Given the description of an element on the screen output the (x, y) to click on. 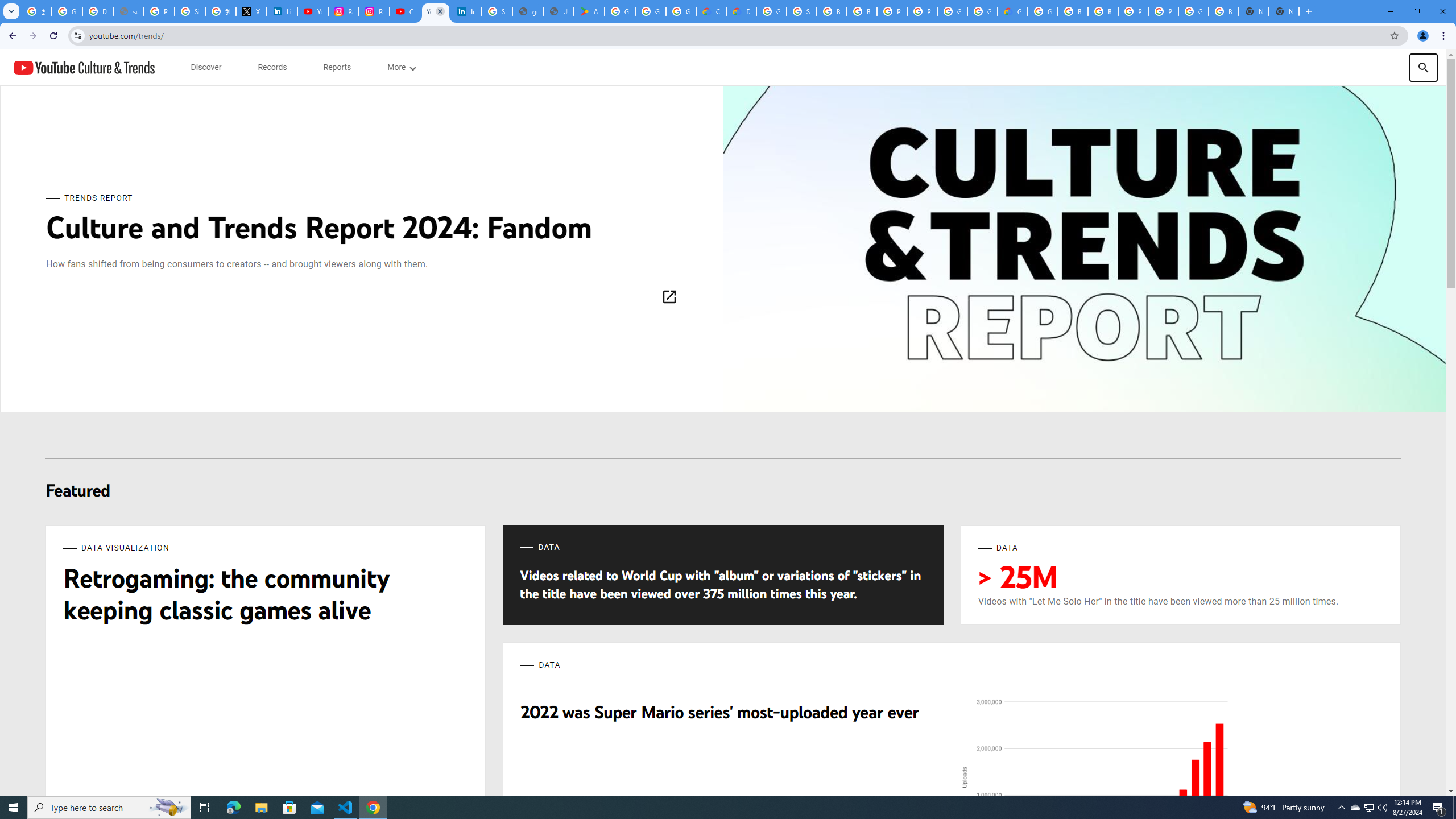
Google Workspace - Specific Terms (650, 11)
Google Cloud Platform (982, 11)
subnav-Reports menupopup (336, 67)
subnav-Records menupopup (271, 67)
YouTube Content Monetization Policies - How YouTube Works (312, 11)
support.google.com - Network error (127, 11)
Google Cloud Platform (1042, 11)
Sign in - Google Accounts (801, 11)
X (251, 11)
subnav-More menupopup (401, 67)
